Given the description of an element on the screen output the (x, y) to click on. 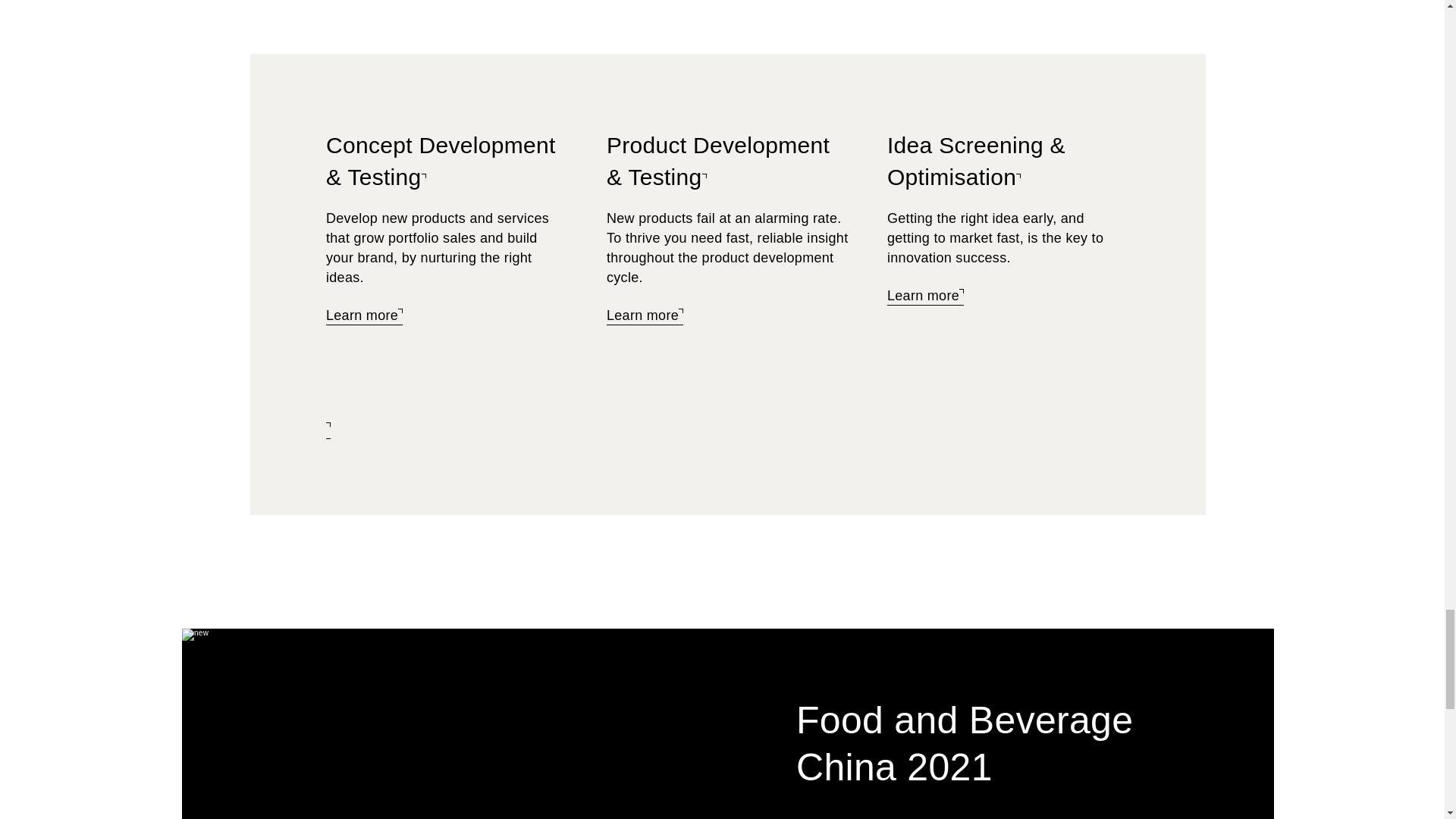
Idea Optimisation (975, 161)
Product Development and Testing (644, 316)
Concept Development and Testing (364, 316)
Idea Optimisation (924, 296)
Concept Development and Testing (441, 161)
Product Development and Testing (718, 161)
